Given the description of an element on the screen output the (x, y) to click on. 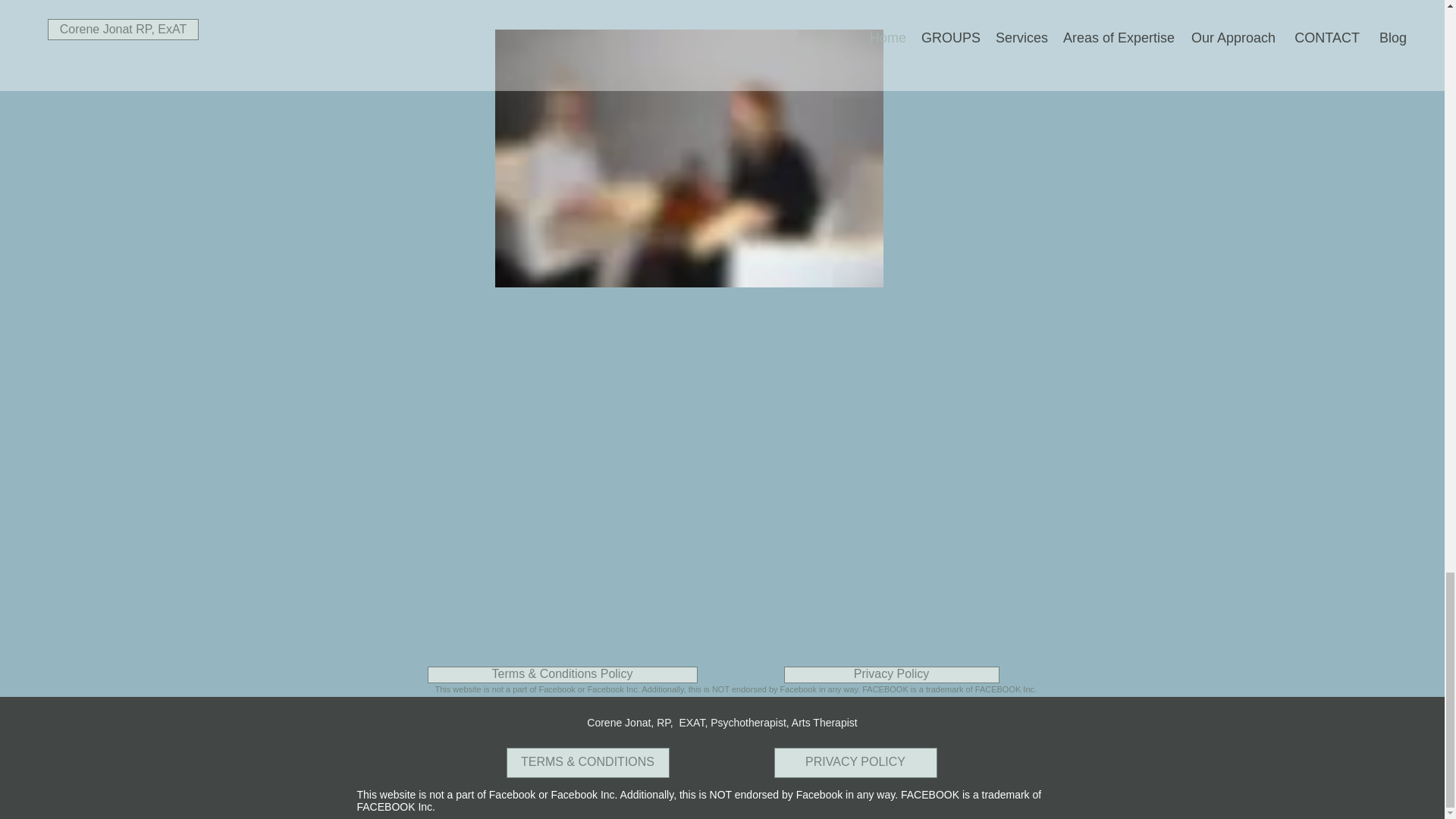
PRIVACY POLICY (854, 762)
Privacy Policy (891, 674)
